Given the description of an element on the screen output the (x, y) to click on. 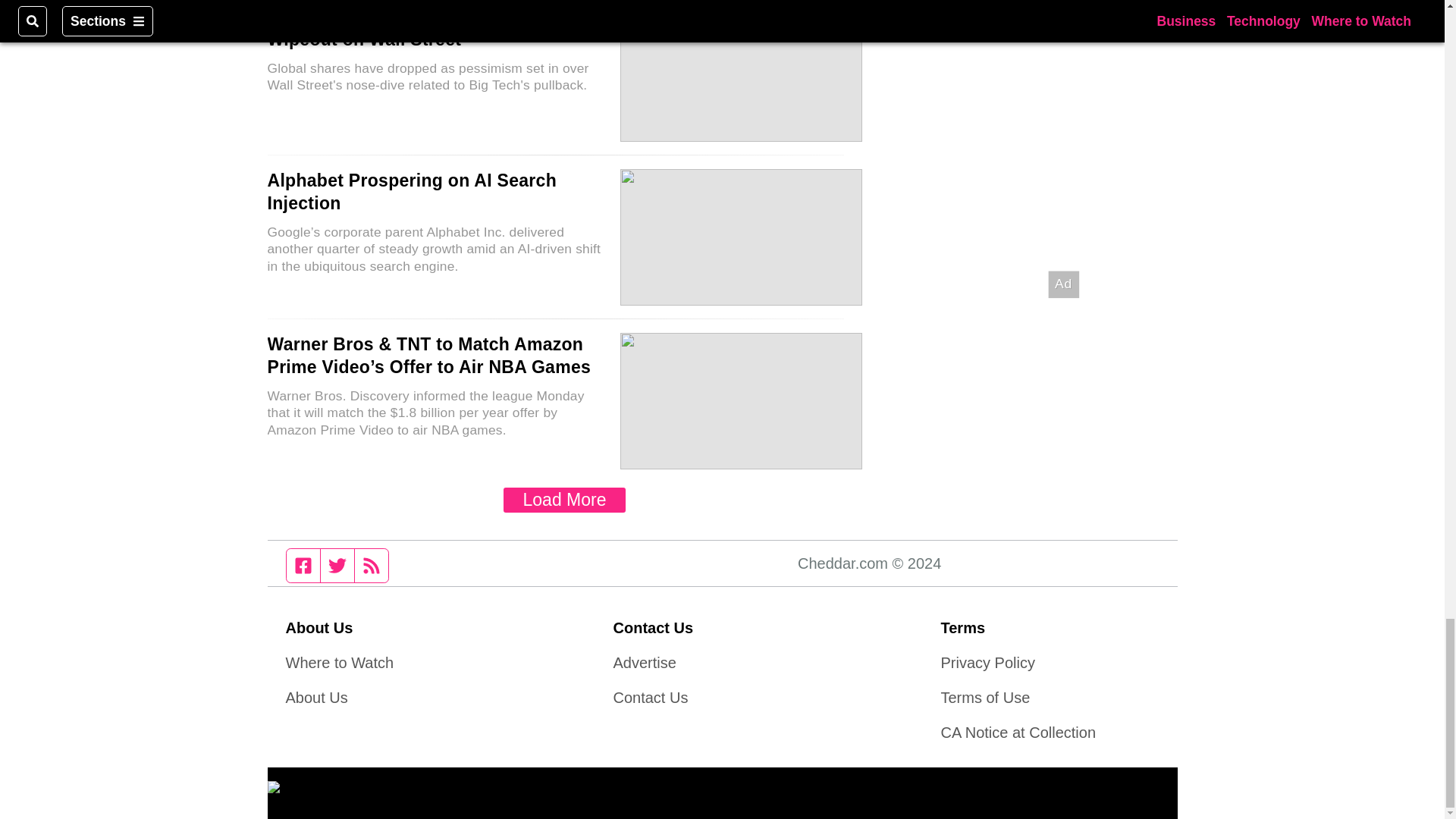
Facebook page (303, 565)
Load More (564, 499)
RSS feed (371, 565)
Alphabet Prospering on AI Search Injection (411, 191)
Twitter feed (336, 565)
